Given the description of an element on the screen output the (x, y) to click on. 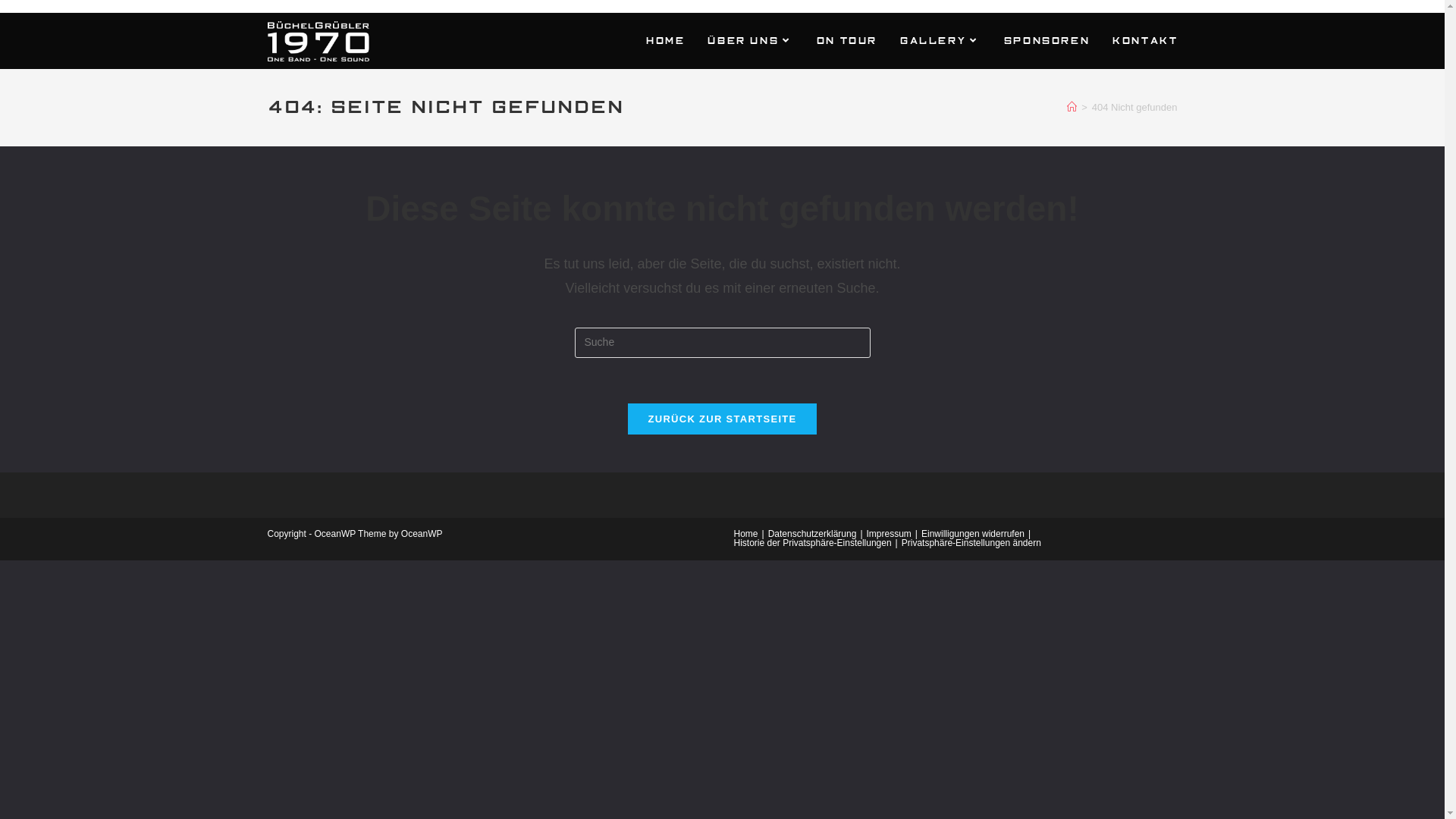
Einwilligungen widerrufen Element type: text (972, 533)
ON TOUR Element type: text (846, 40)
Home Element type: text (746, 533)
GALLERY Element type: text (939, 40)
SPONSOREN Element type: text (1045, 40)
Impressum Element type: text (888, 533)
HOME Element type: text (664, 40)
KONTAKT Element type: text (1144, 40)
